Given the description of an element on the screen output the (x, y) to click on. 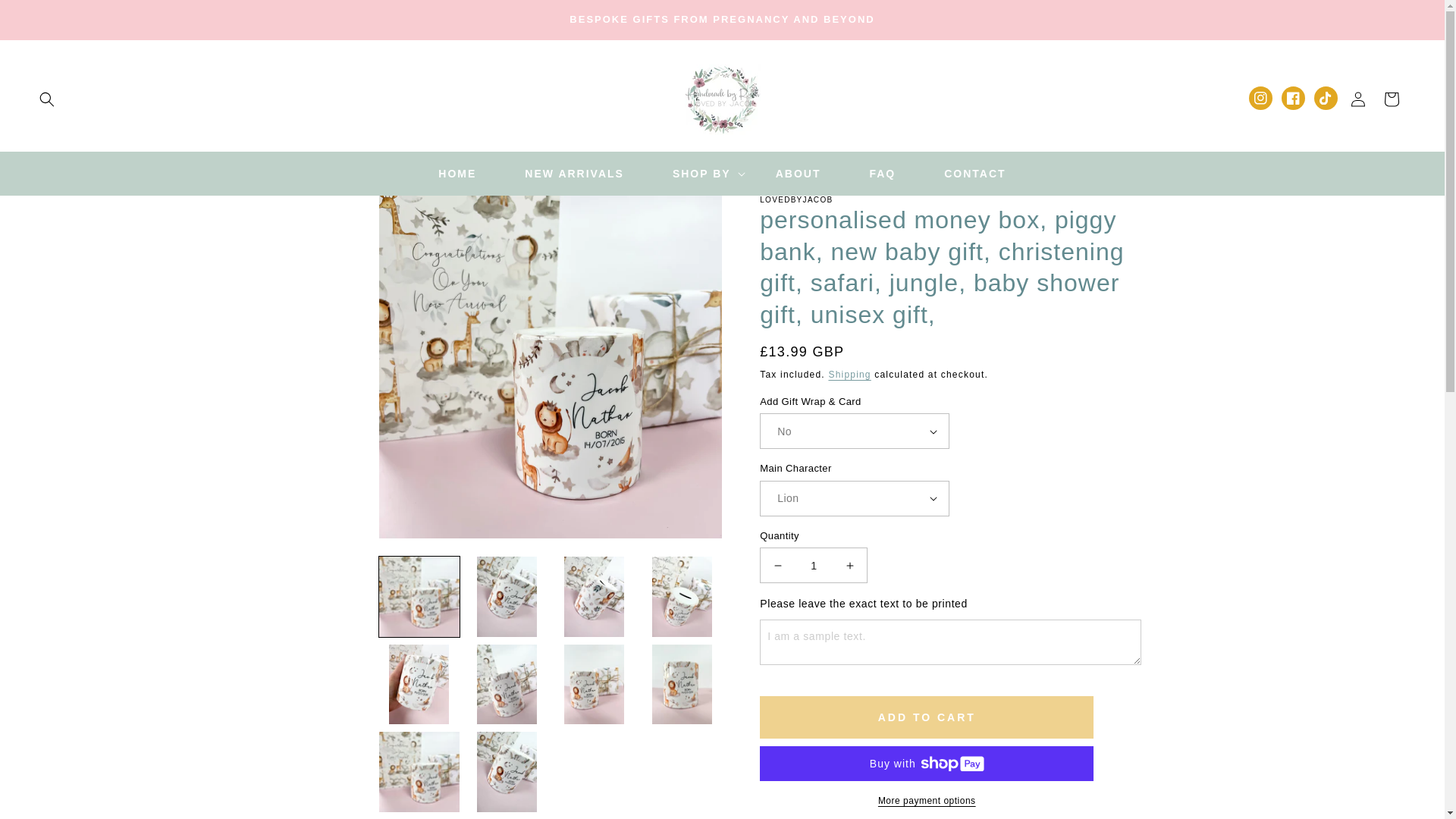
NEW ARRIVALS (573, 173)
SKIP TO CONTENT (45, 16)
HOME (456, 173)
Log in (1357, 99)
FAQ (882, 173)
TikTok (1326, 97)
SKIP TO PRODUCT INFORMATION (423, 211)
ABOUT (798, 173)
1 (813, 565)
Cart (1390, 99)
CONTACT (974, 173)
Facebook (1292, 97)
Instagram (1260, 97)
